Given the description of an element on the screen output the (x, y) to click on. 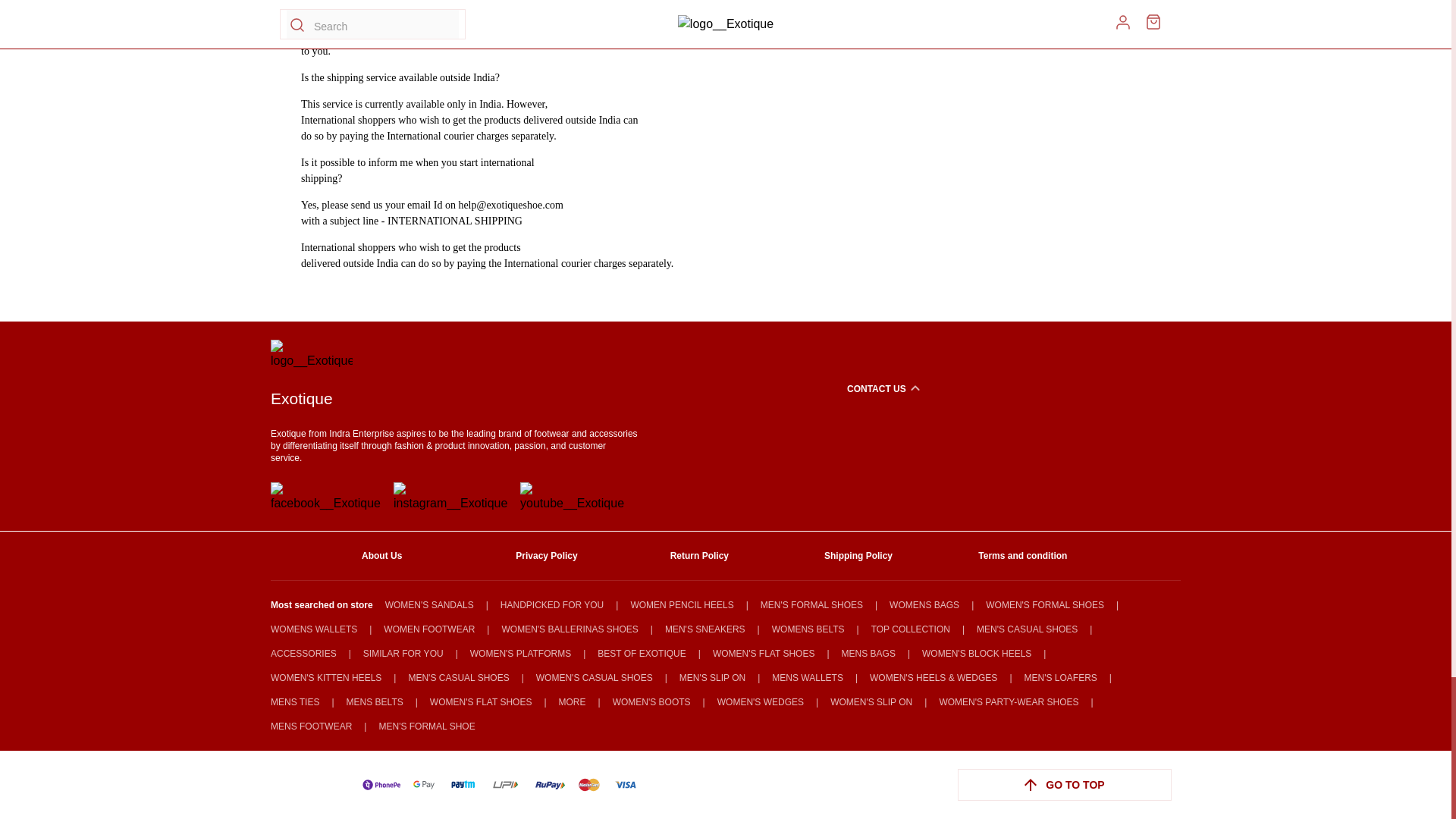
WOMEN FOOTWEAR (429, 629)
Terms and condition (1033, 555)
ACCESSORIES (303, 653)
WOMEN'S KITTEN HEELS (325, 677)
WOMEN'S SANDALS (429, 604)
WOMEN'S BALLERINAS SHOES (568, 629)
About Us (417, 555)
BEST OF EXOTIQUE (640, 653)
WOMEN'S BLOCK HEELS (975, 653)
WOMEN PENCIL HEELS (681, 604)
MEN'S CASUAL SHOES (1026, 629)
WOMENS BELTS (807, 629)
Return Policy (725, 555)
MEN'S FORMAL SHOES (811, 604)
TOP COLLECTION (910, 629)
